Given the description of an element on the screen output the (x, y) to click on. 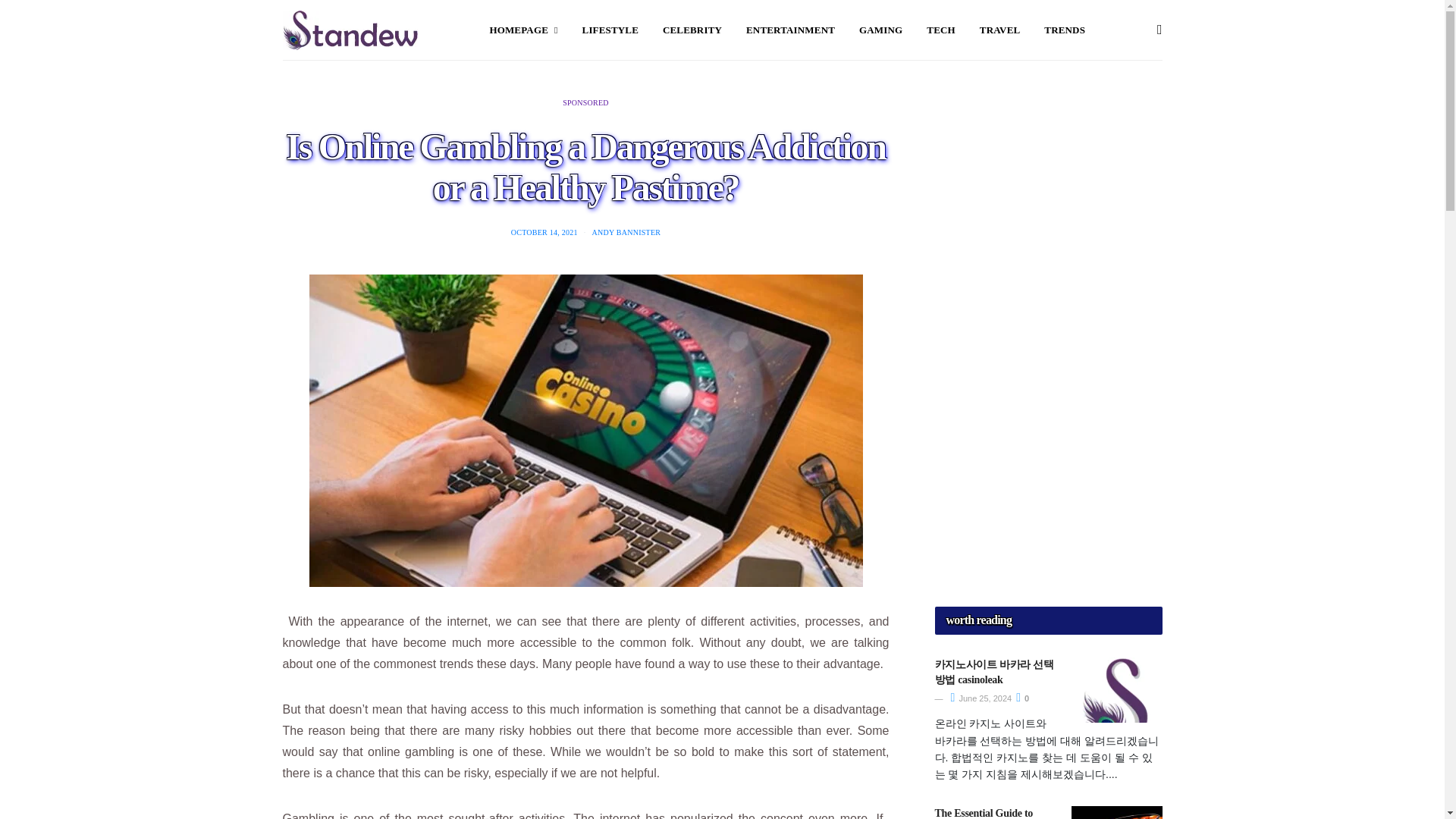
LIFESTYLE (610, 29)
ENTERTAINMENT (789, 29)
View all posts by Andy Bannister (626, 232)
OCTOBER 14, 2021 (544, 232)
ANDY BANNISTER (626, 232)
HOMEPAGE (523, 29)
SPONSORED (585, 102)
CELEBRITY (692, 29)
